Given the description of an element on the screen output the (x, y) to click on. 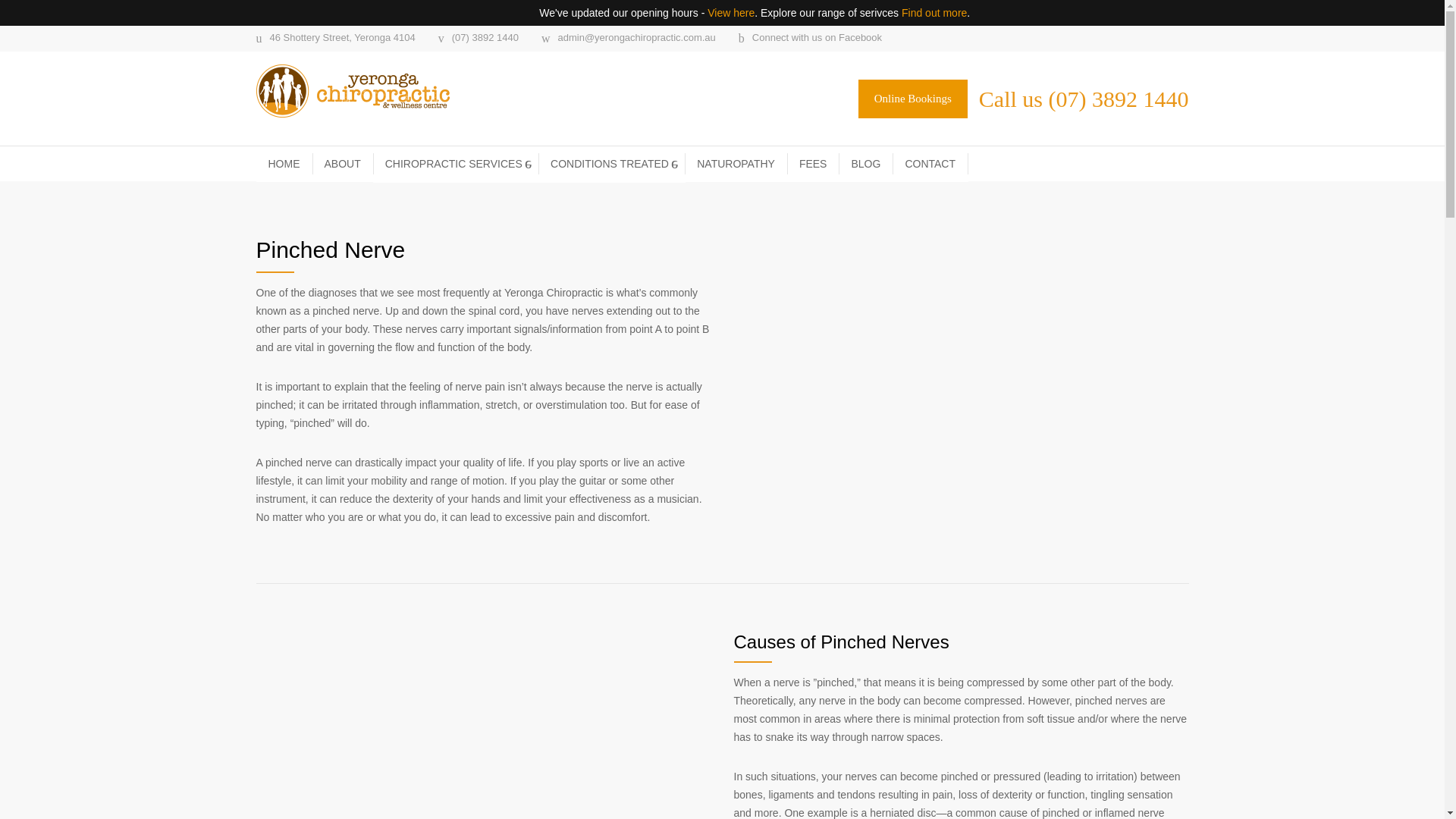
CONTACT (930, 163)
Online Bookings (913, 98)
Find out more (933, 12)
Connect with us on Facebook (810, 38)
ABOUT (343, 163)
View here (730, 12)
CHIROPRACTIC SERVICES (455, 163)
CONDITIONS TREATED (611, 163)
Read more about Chiropractic (913, 98)
BLOG (865, 163)
HOME (284, 163)
FEES (813, 163)
NATUROPATHY (735, 163)
